Given the description of an element on the screen output the (x, y) to click on. 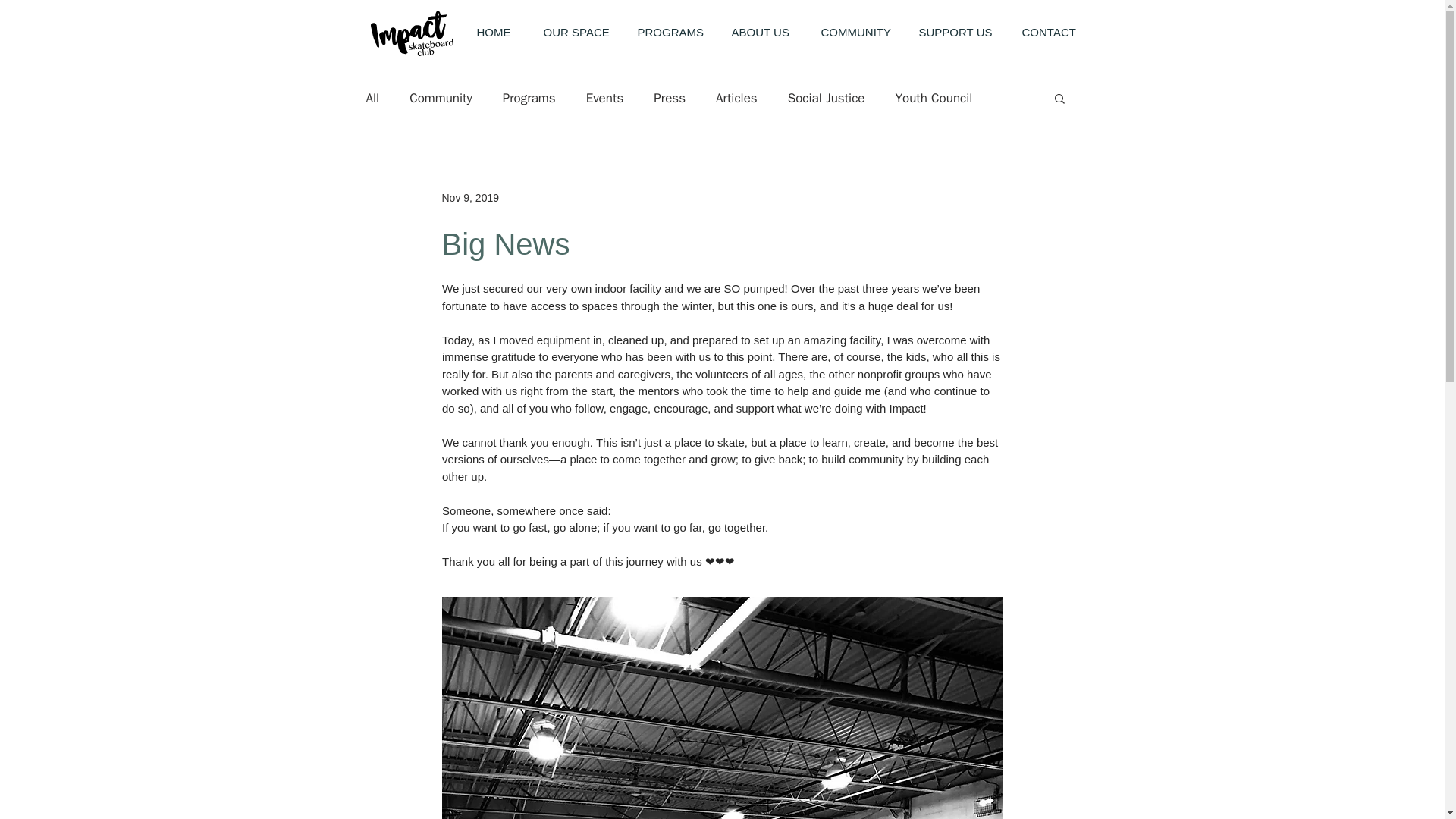
Social Justice (825, 98)
Articles (736, 98)
COMMUNITY (859, 32)
ABOUT US (766, 32)
Nov 9, 2019 (470, 196)
PROGRAMS (674, 32)
Community (440, 98)
HOME (500, 32)
Programs (529, 98)
Youth Council (933, 98)
CONTACT (1052, 32)
Press (669, 98)
OUR SPACE (580, 32)
Events (605, 98)
